Given the description of an element on the screen output the (x, y) to click on. 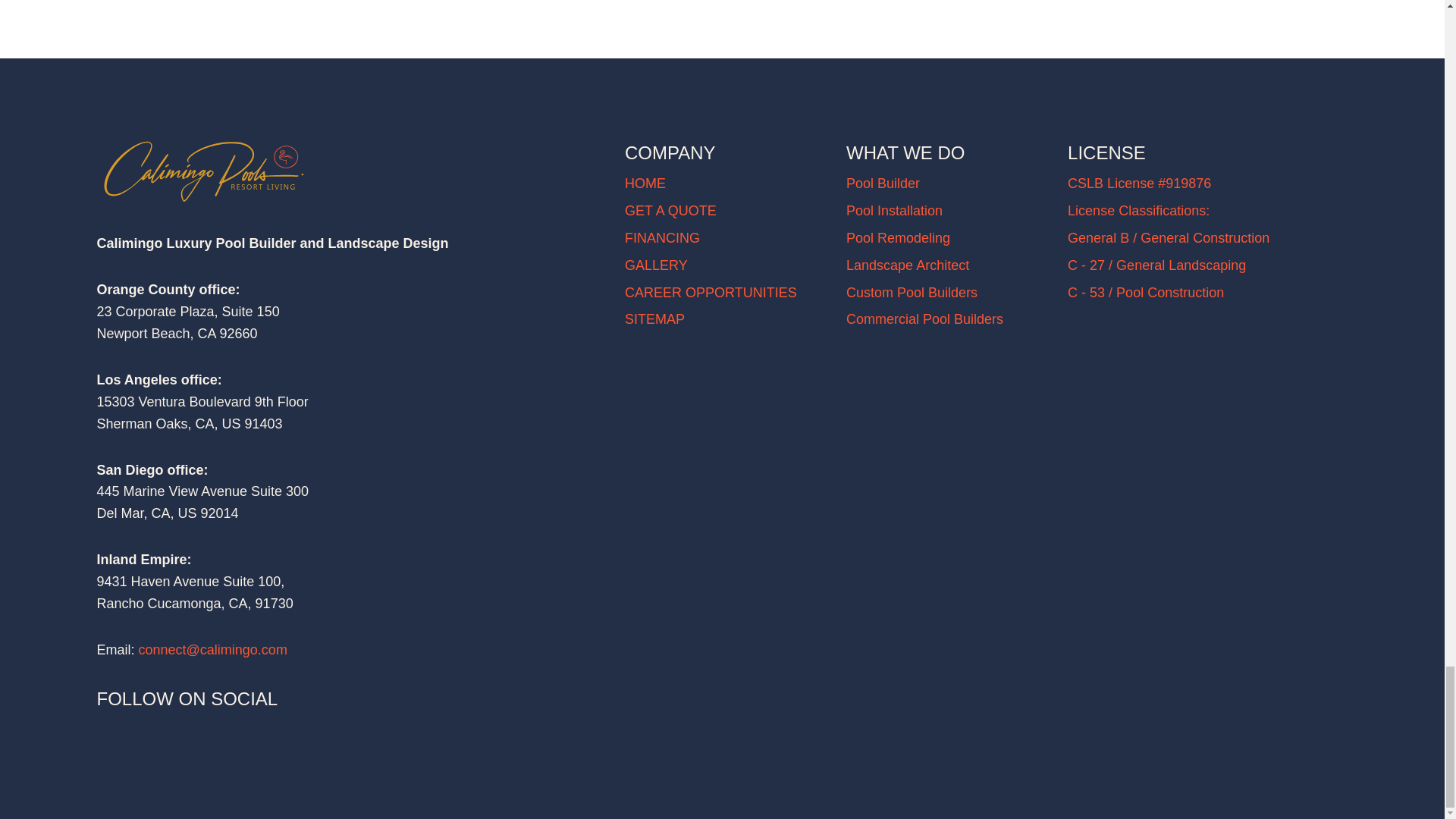
Follow on Youtube (199, 727)
GET A QUOTE (670, 210)
Follow on Yelp (244, 727)
Follow on Instagram (108, 727)
FINANCING (662, 237)
HOME (644, 183)
CAREER OPPORTUNITIES (710, 292)
GALLERY (655, 264)
SITEMAP (654, 319)
Follow on Facebook (154, 727)
